Given the description of an element on the screen output the (x, y) to click on. 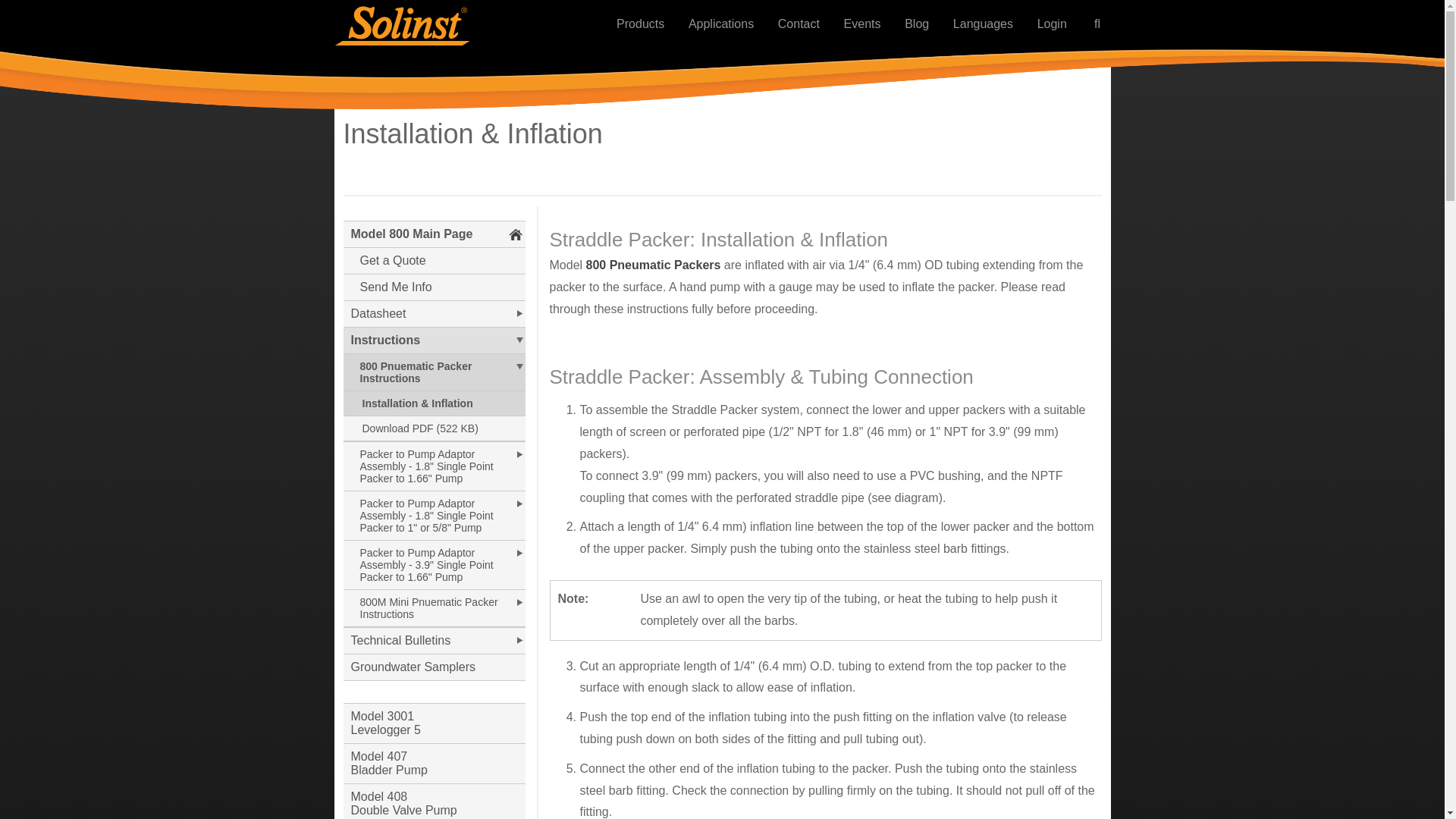
800 Pneumatic Packers (653, 264)
Products (641, 23)
Languages (982, 23)
Contact (798, 23)
Login (1051, 23)
Solinst Model 800 Low Pressure Pneumatic Packers (653, 264)
Blog (917, 23)
Events (861, 23)
Applications (720, 23)
